Given the description of an element on the screen output the (x, y) to click on. 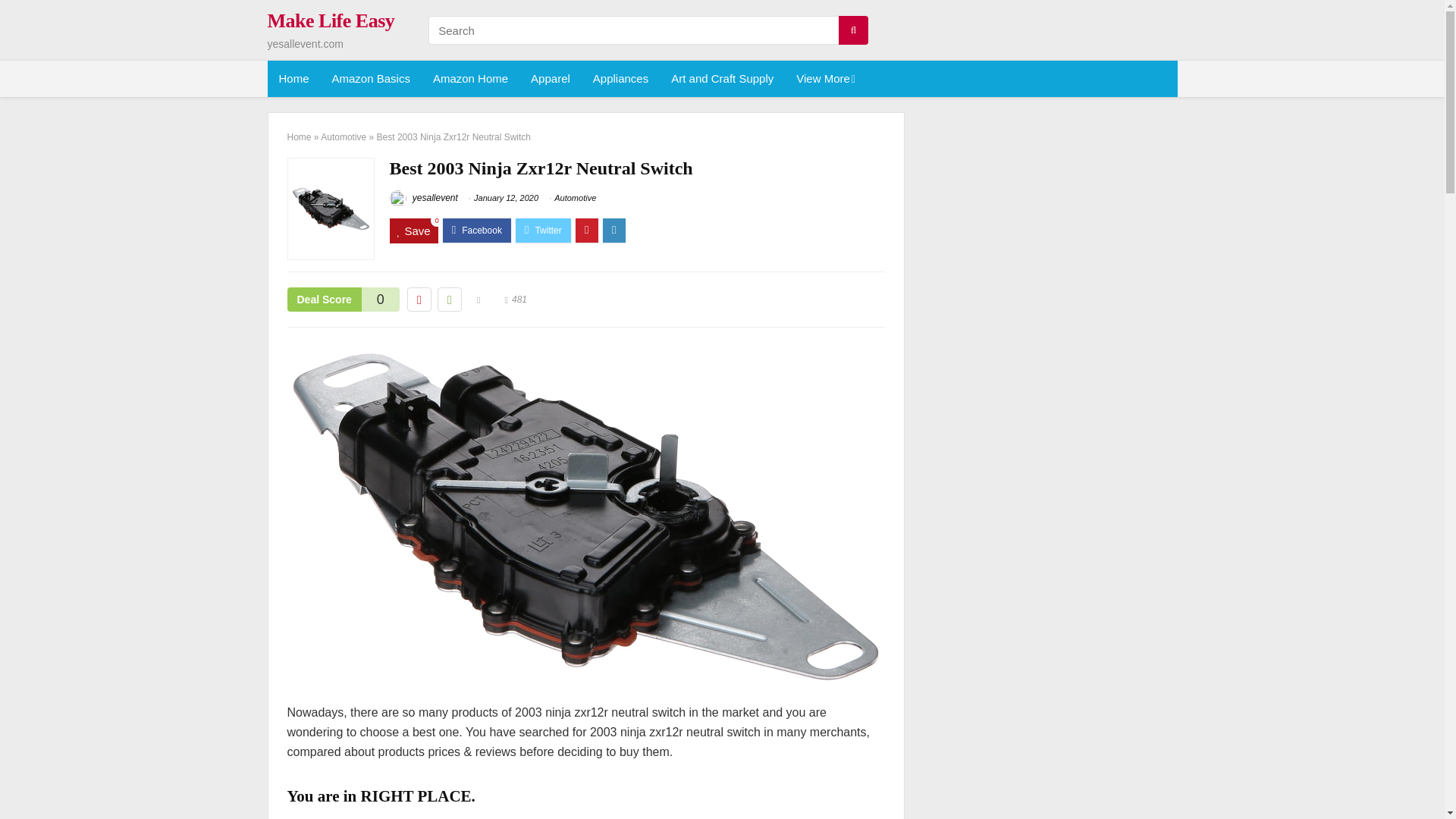
Amazon Home (470, 78)
View all posts in Automotive (574, 197)
View More (823, 78)
Art and Craft Supply (721, 78)
Vote down (418, 299)
Apparel (549, 78)
Home (293, 78)
Appliances (619, 78)
Amazon Basics (371, 78)
